Given the description of an element on the screen output the (x, y) to click on. 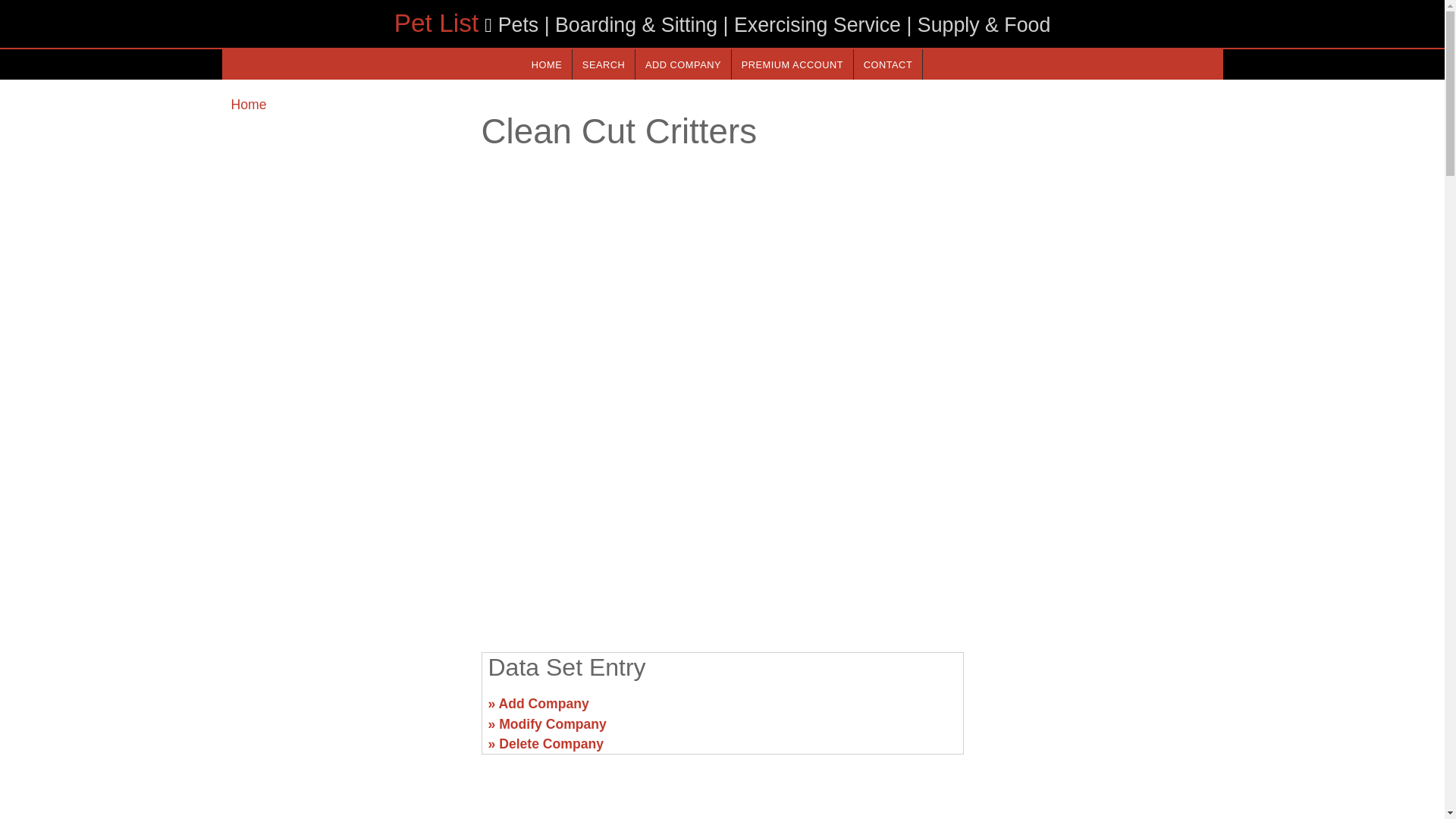
Advertisement (1096, 710)
Add a new company (682, 64)
SEARCH (603, 64)
Pet List (436, 22)
CONTACT (887, 64)
Advertisement (346, 710)
Home (248, 104)
ADD COMPANY (682, 64)
Advertisement (721, 522)
PREMIUM ACCOUNT (792, 64)
Search in this webseite. (603, 64)
HOME (546, 64)
Premium account (792, 64)
